Given the description of an element on the screen output the (x, y) to click on. 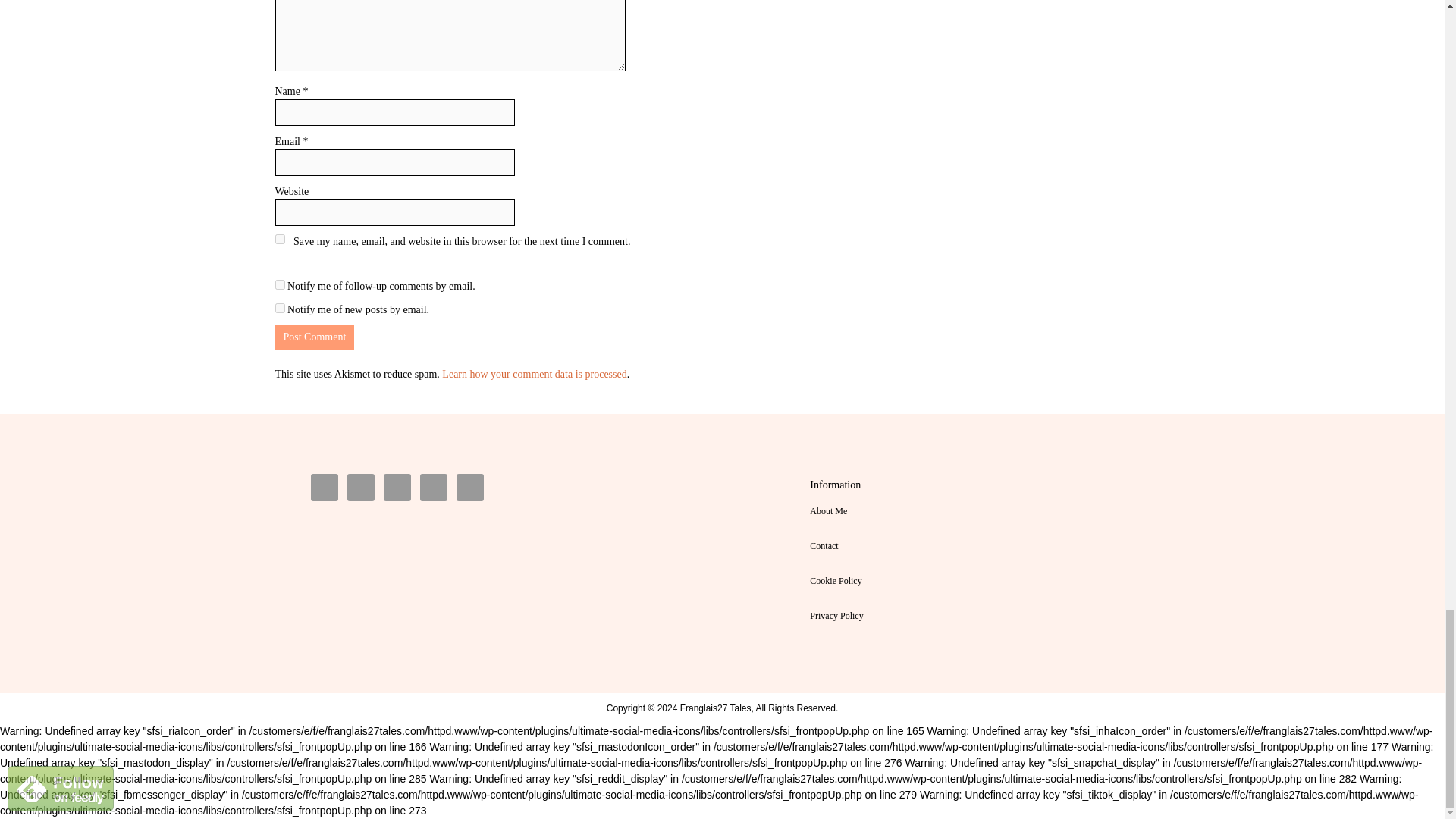
subscribe (279, 307)
Post Comment (314, 337)
subscribe (279, 284)
Post Comment (314, 337)
Please wait until Google reCAPTCHA is loaded. (314, 337)
yes (279, 239)
